Given the description of an element on the screen output the (x, y) to click on. 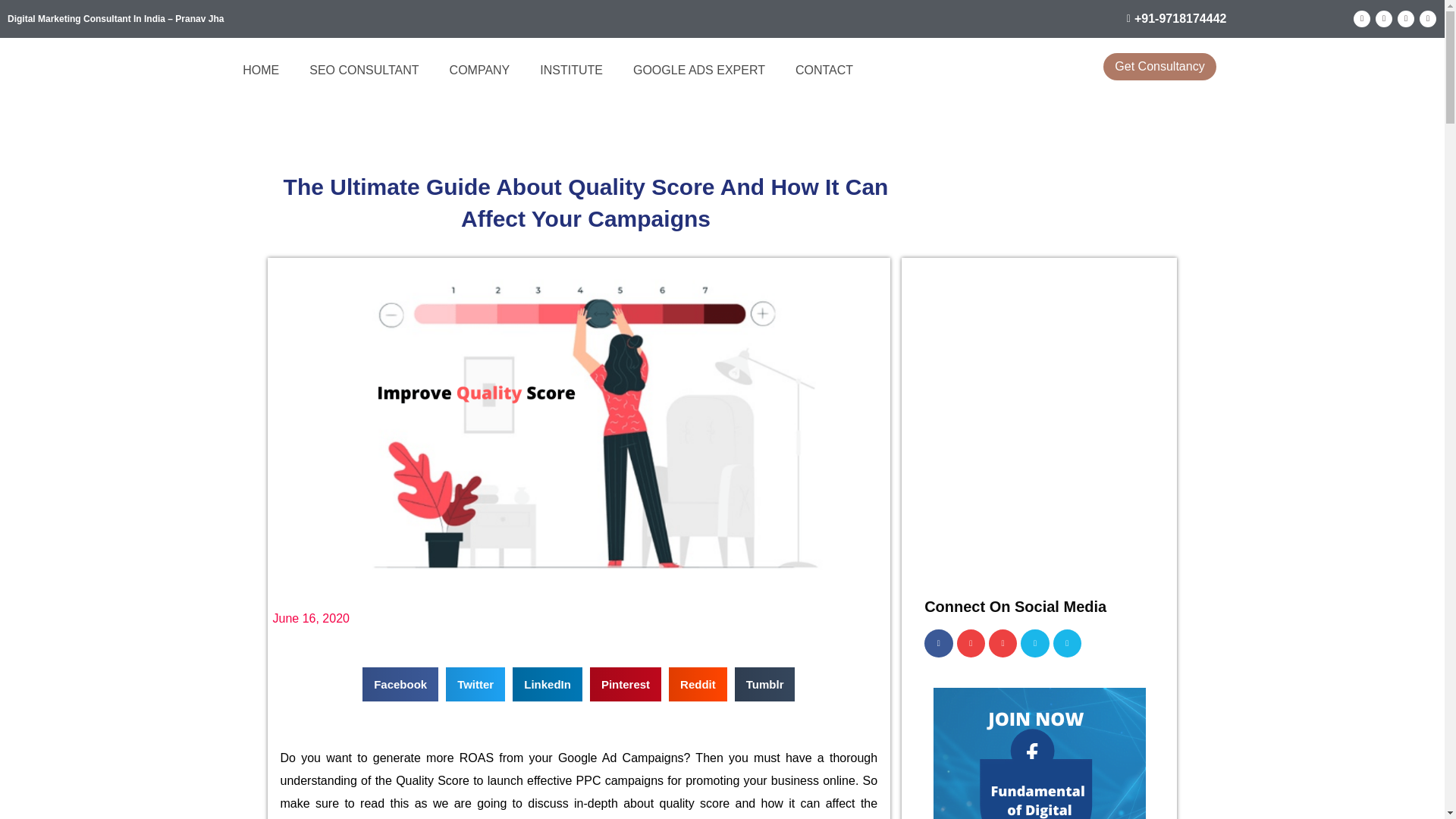
X-twitter (1405, 18)
INSTITUTE (570, 70)
SEO CONSULTANT (363, 70)
Instagram (1427, 18)
Instagram (1002, 643)
HOME (260, 70)
COMPANY (479, 70)
CONTACT (823, 70)
June 16, 2020 (311, 618)
Facebook-f (1383, 18)
Facebook-f (938, 643)
Instagram (1066, 643)
Get Consultancy (1159, 66)
Youtube (970, 643)
X-twitter (1034, 643)
